Given the description of an element on the screen output the (x, y) to click on. 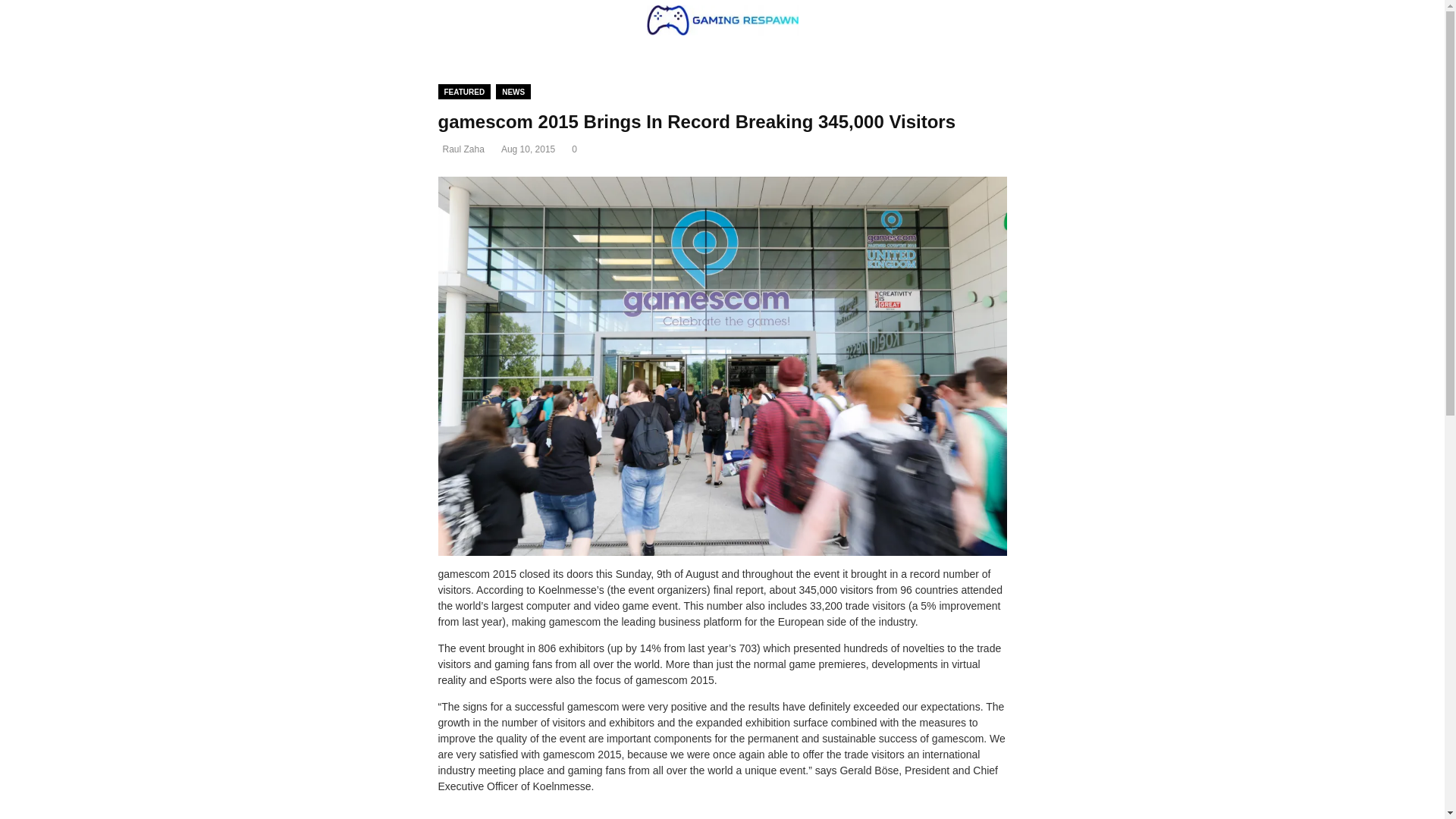
NEWS (513, 91)
Raul Zaha (463, 149)
Aug 10, 2015 (527, 149)
FEATURED (465, 91)
